Given the description of an element on the screen output the (x, y) to click on. 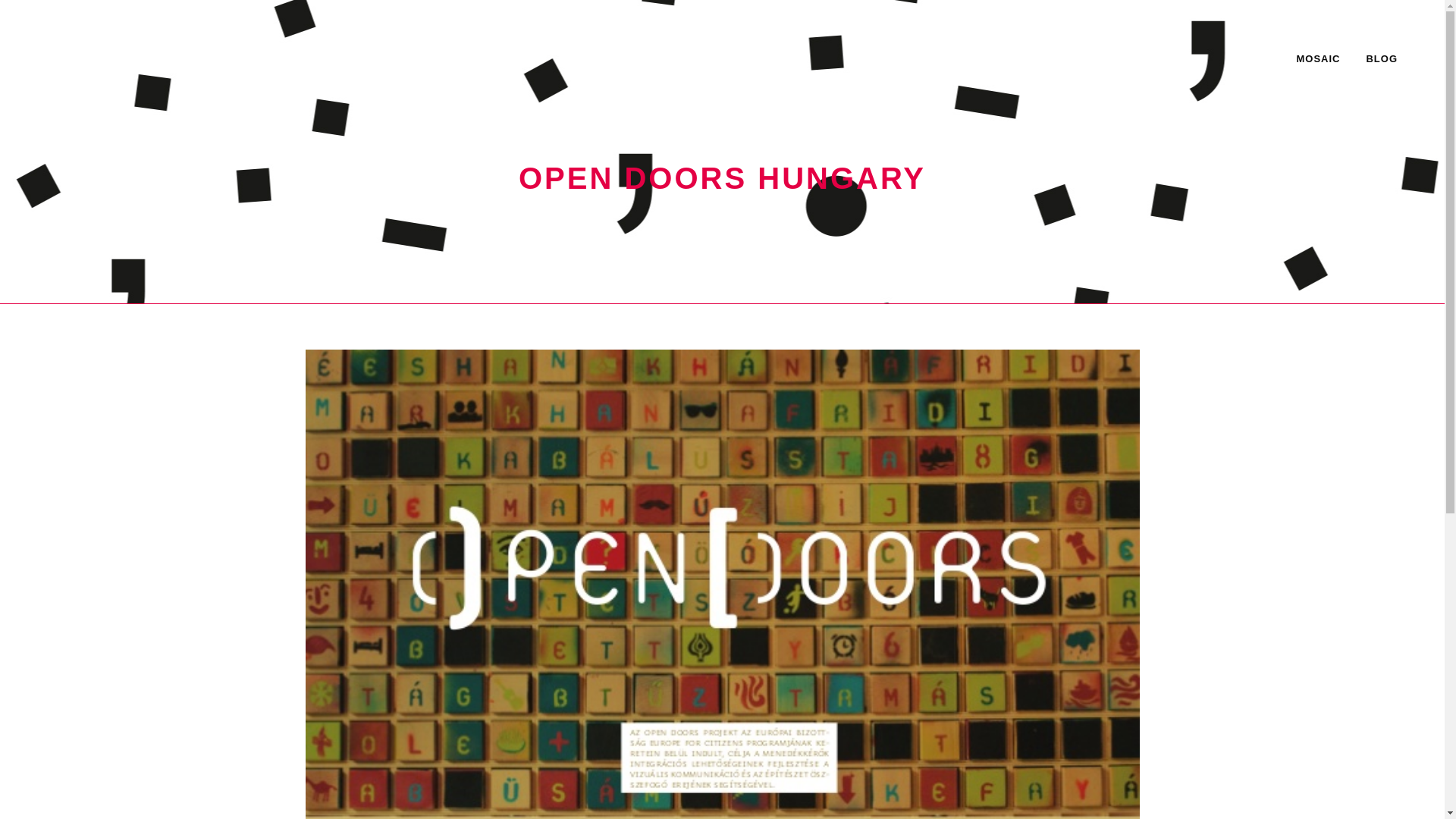
BLOG (1381, 58)
MOSAIC (1317, 58)
